Given the description of an element on the screen output the (x, y) to click on. 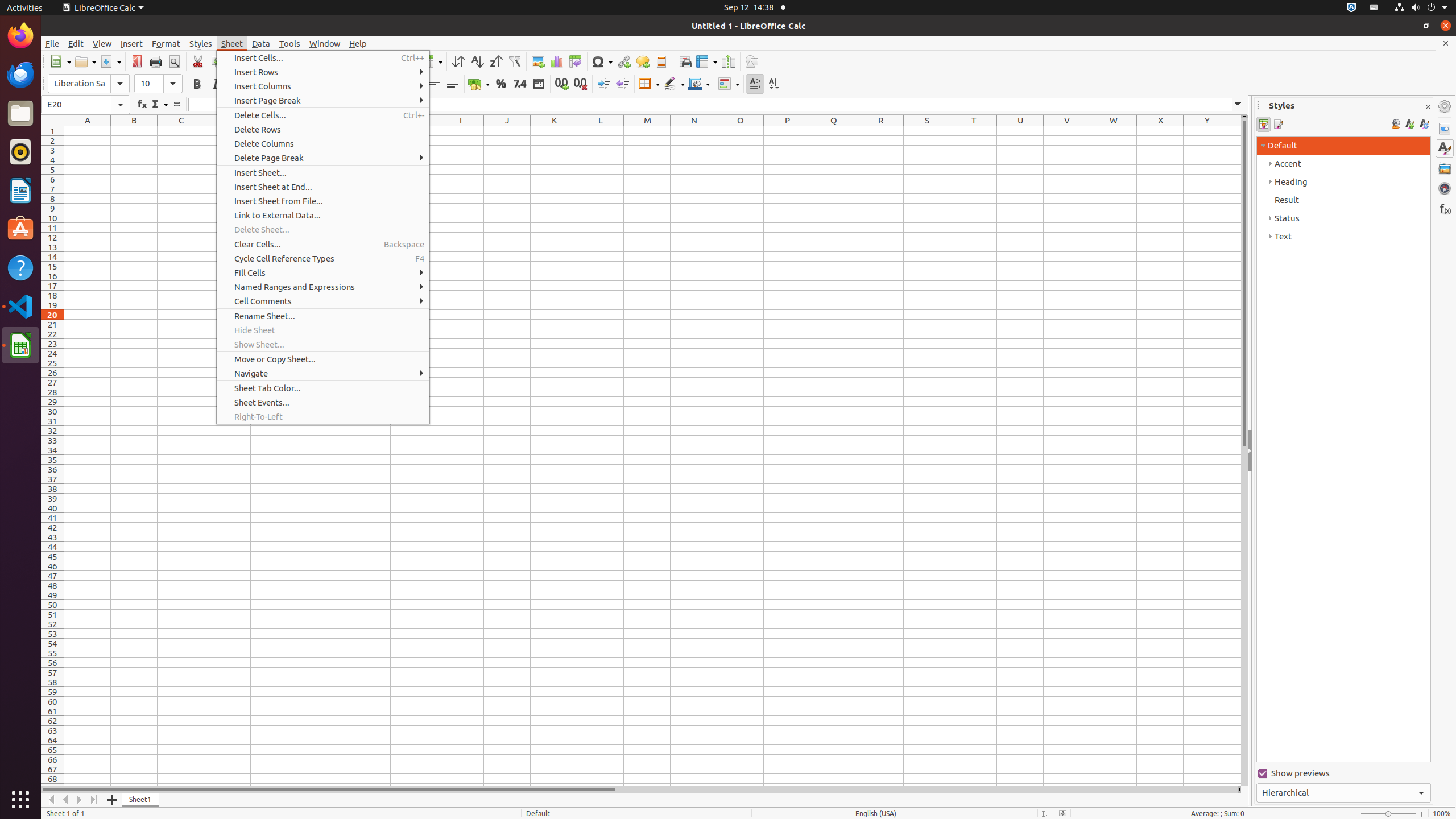
Insert Columns Element type: menu (322, 86)
W1 Element type: table-cell (1113, 130)
:1.72/StatusNotifierItem Element type: menu (1350, 7)
K1 Element type: table-cell (553, 130)
Link to External Data... Element type: menu-item (322, 215)
